Given the description of an element on the screen output the (x, y) to click on. 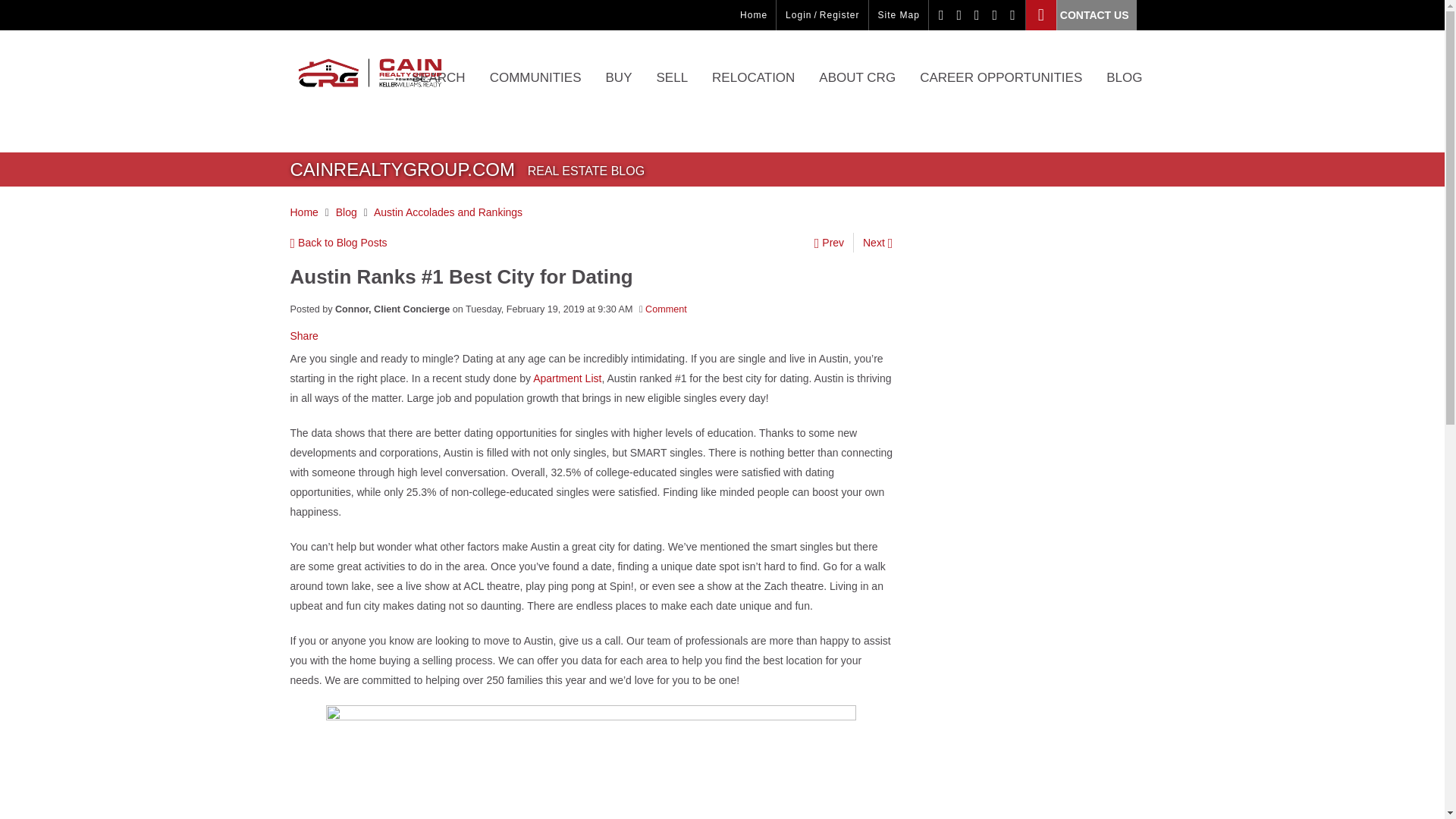
CONTACT US (1081, 15)
Home (753, 14)
COMMUNITIES (535, 89)
Site Map (898, 14)
Register (839, 14)
SEARCH (437, 89)
